Given the description of an element on the screen output the (x, y) to click on. 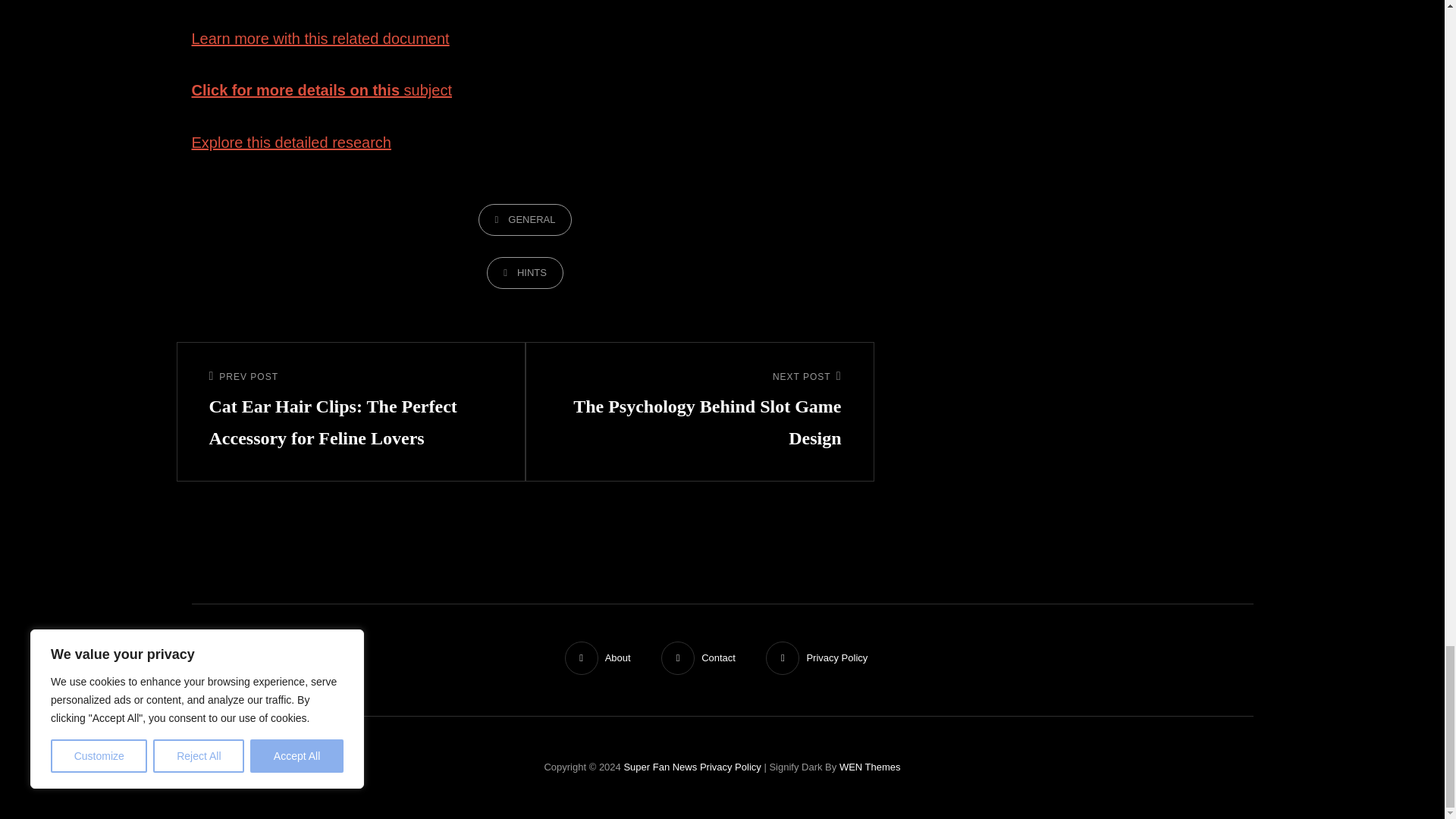
Explore this detailed research (290, 142)
Learn more with this related document (319, 38)
GENERAL (525, 219)
Click for more details on this subject (320, 89)
HINTS (699, 411)
